Given the description of an element on the screen output the (x, y) to click on. 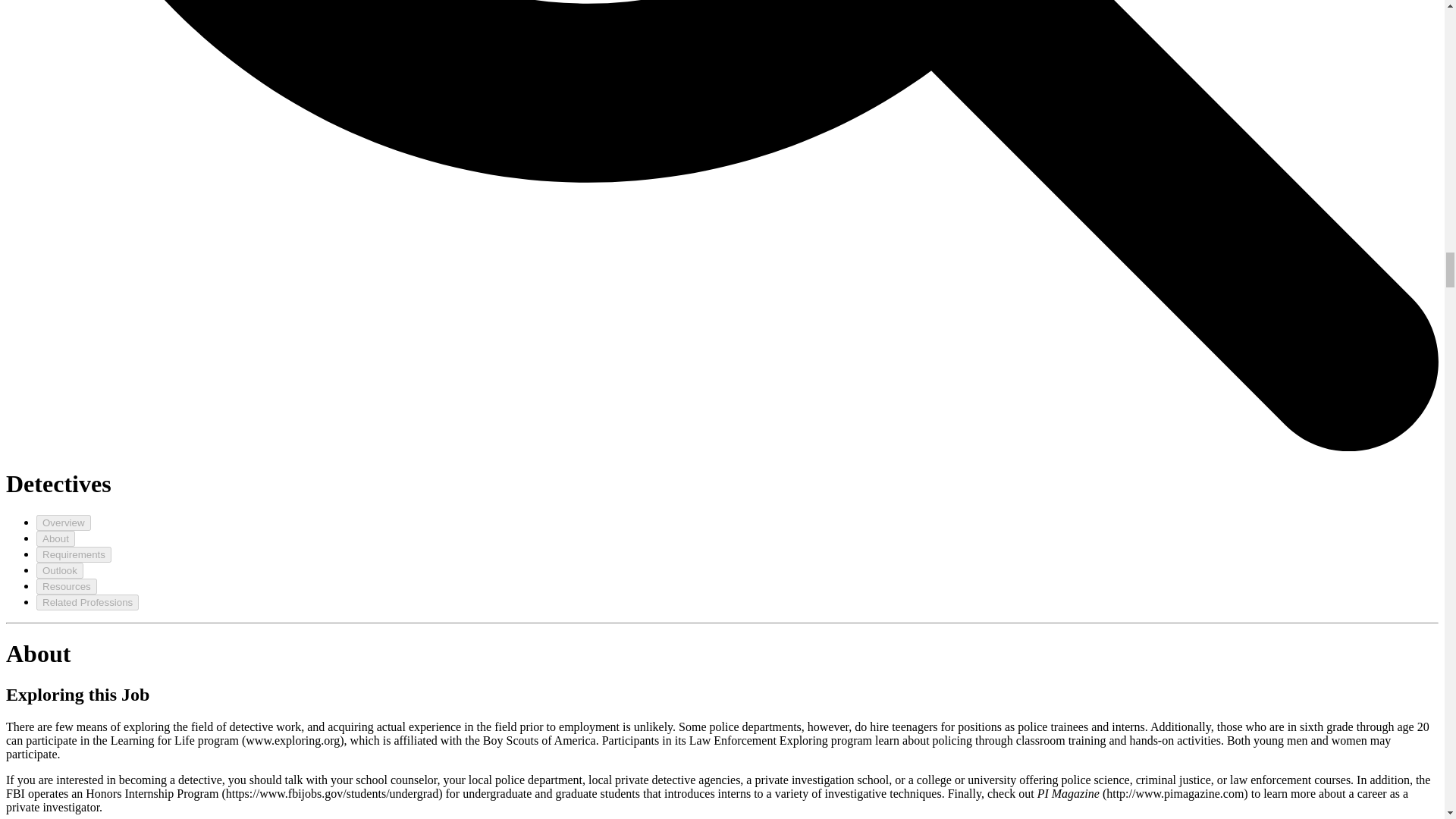
Outlook (59, 570)
Resources (66, 586)
Related Professions (87, 602)
Overview (63, 522)
About (55, 538)
Requirements (74, 554)
